Given the description of an element on the screen output the (x, y) to click on. 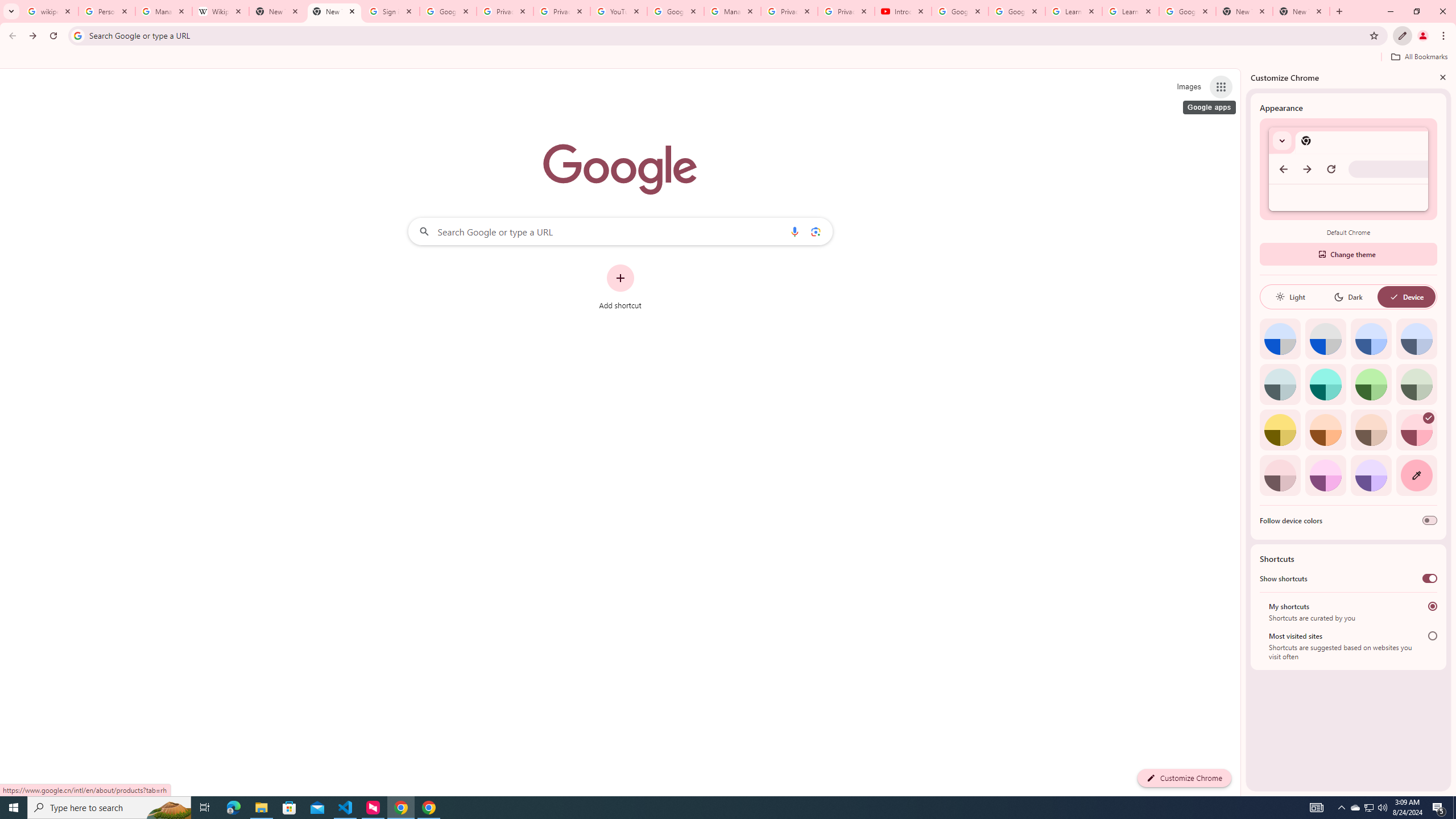
Aqua (1325, 383)
